Given the description of an element on the screen output the (x, y) to click on. 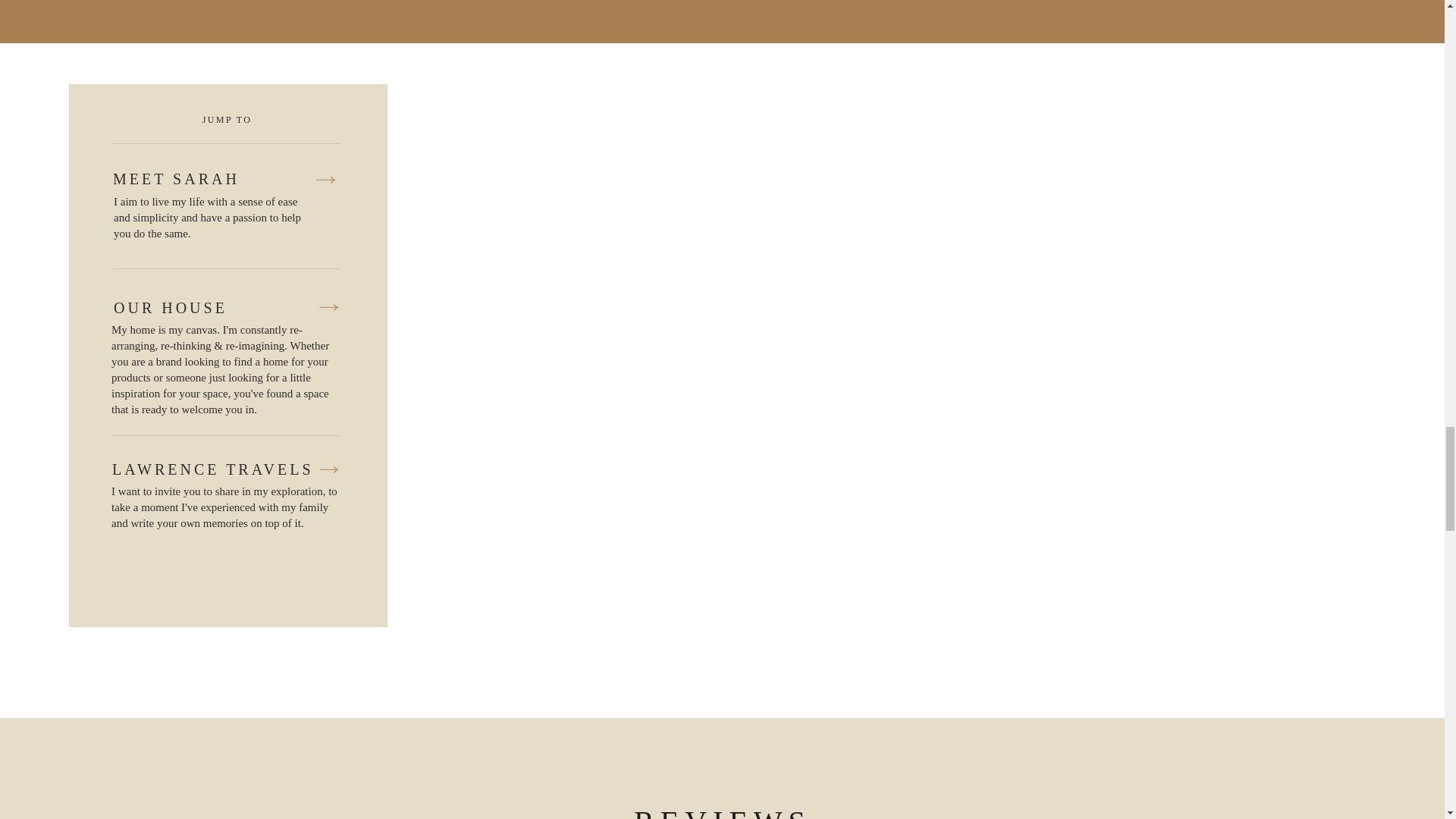
MEET SARAH (212, 181)
